Given the description of an element on the screen output the (x, y) to click on. 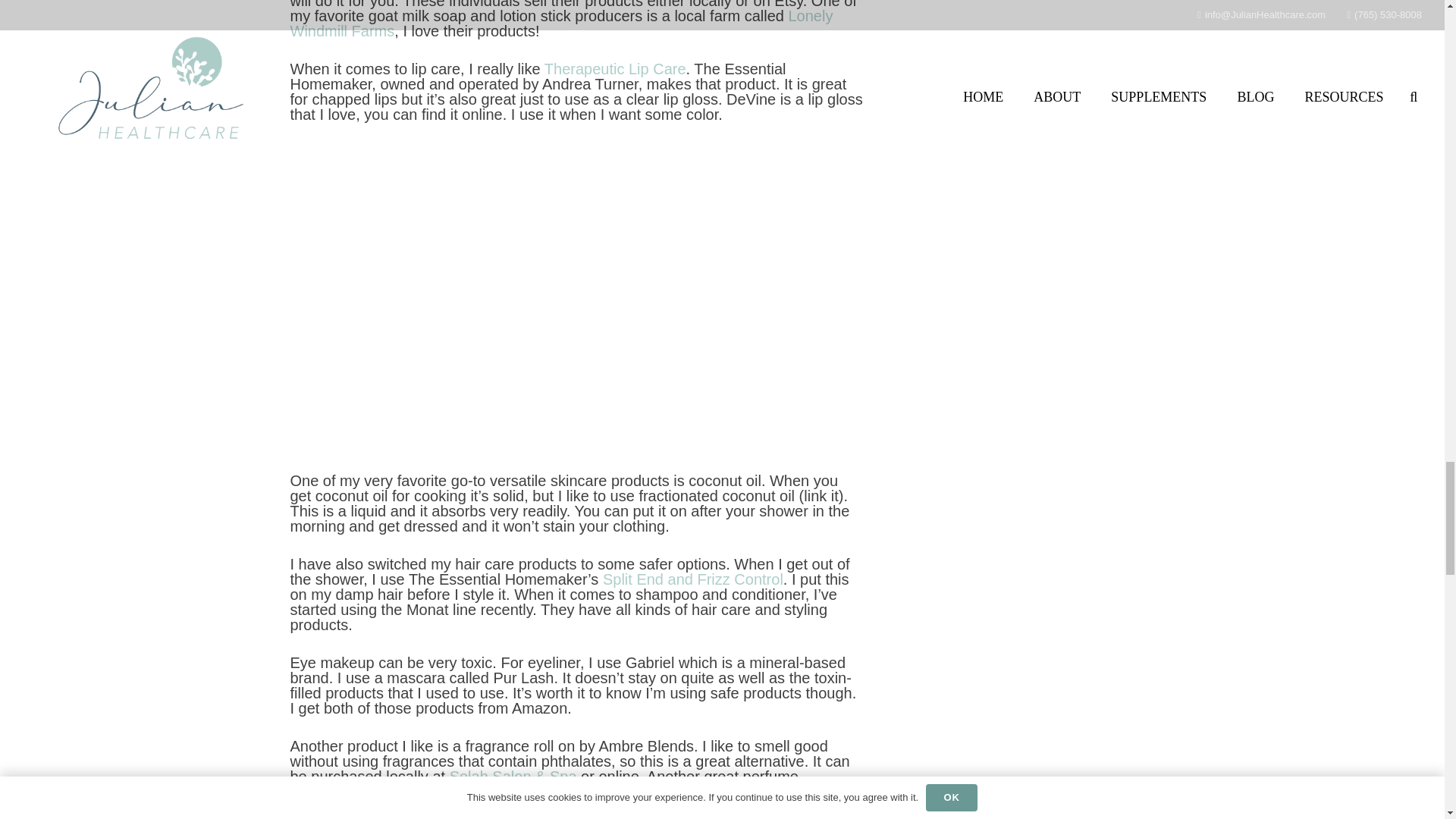
Lonely Windmill Farms (560, 23)
here (832, 791)
Therapeutic Lip Care (612, 68)
Split End and Frizz Control (690, 579)
